Given the description of an element on the screen output the (x, y) to click on. 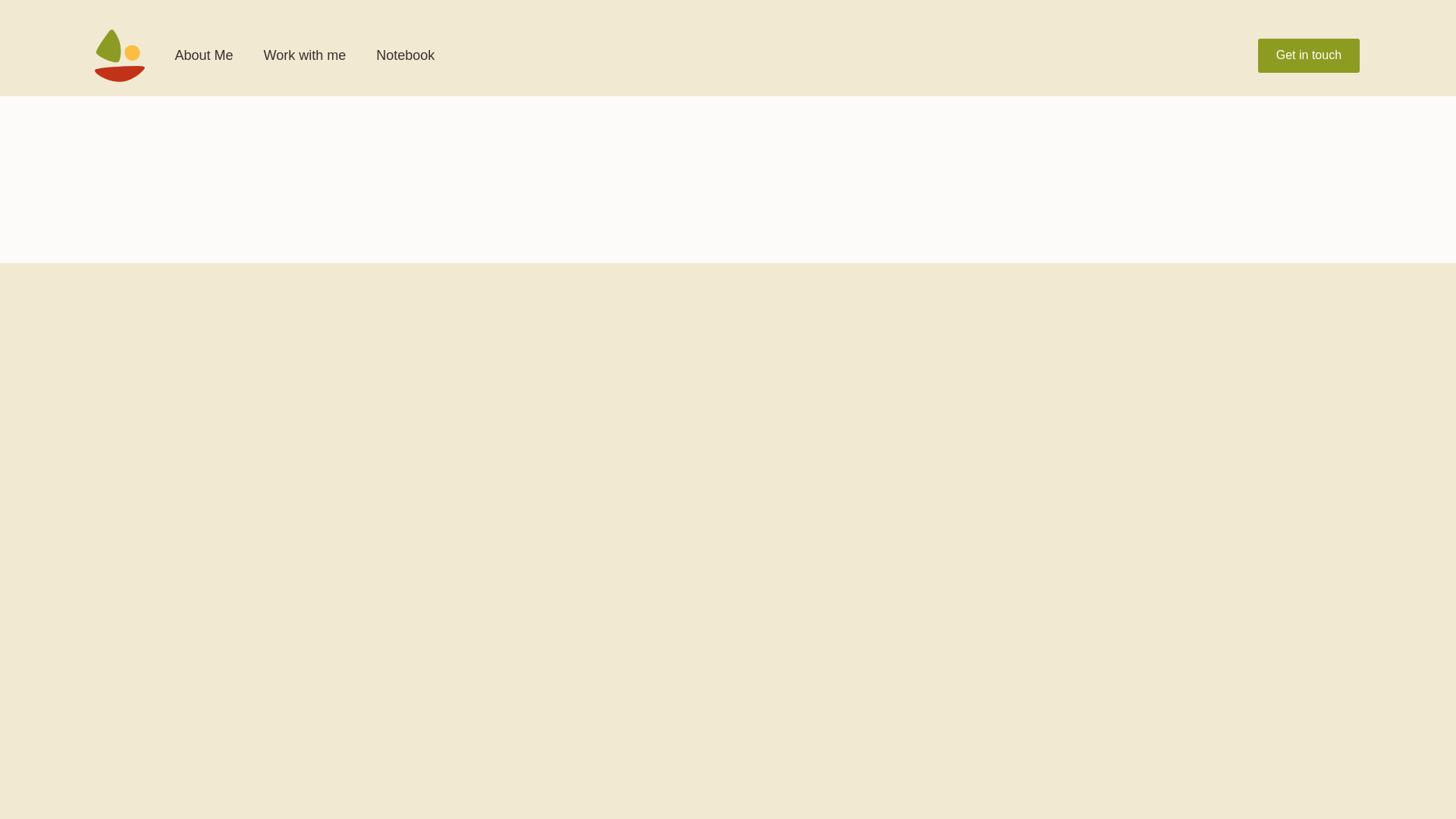
Get in touch (1308, 55)
About Me (202, 55)
Notebook (405, 55)
Work with me (304, 55)
